Given the description of an element on the screen output the (x, y) to click on. 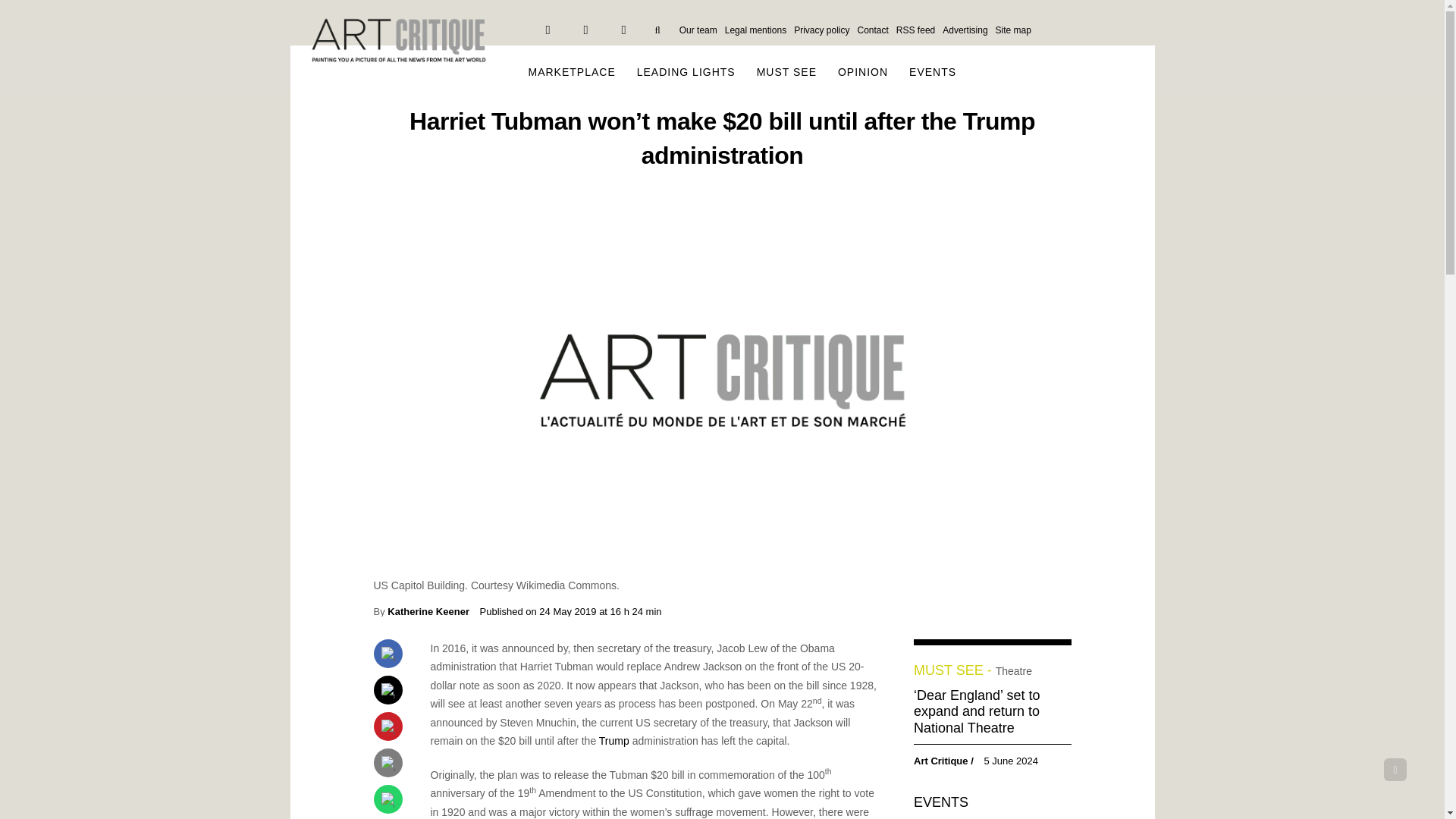
Our team (697, 30)
Contact (872, 30)
Privacy policy (821, 30)
Scroll to top (1395, 769)
Site map (1013, 30)
Posts by Katherine Keener (427, 611)
Scroll to top (1395, 769)
Twitter (585, 29)
Scroll to top (1395, 769)
Legal mentions (755, 30)
